Given the description of an element on the screen output the (x, y) to click on. 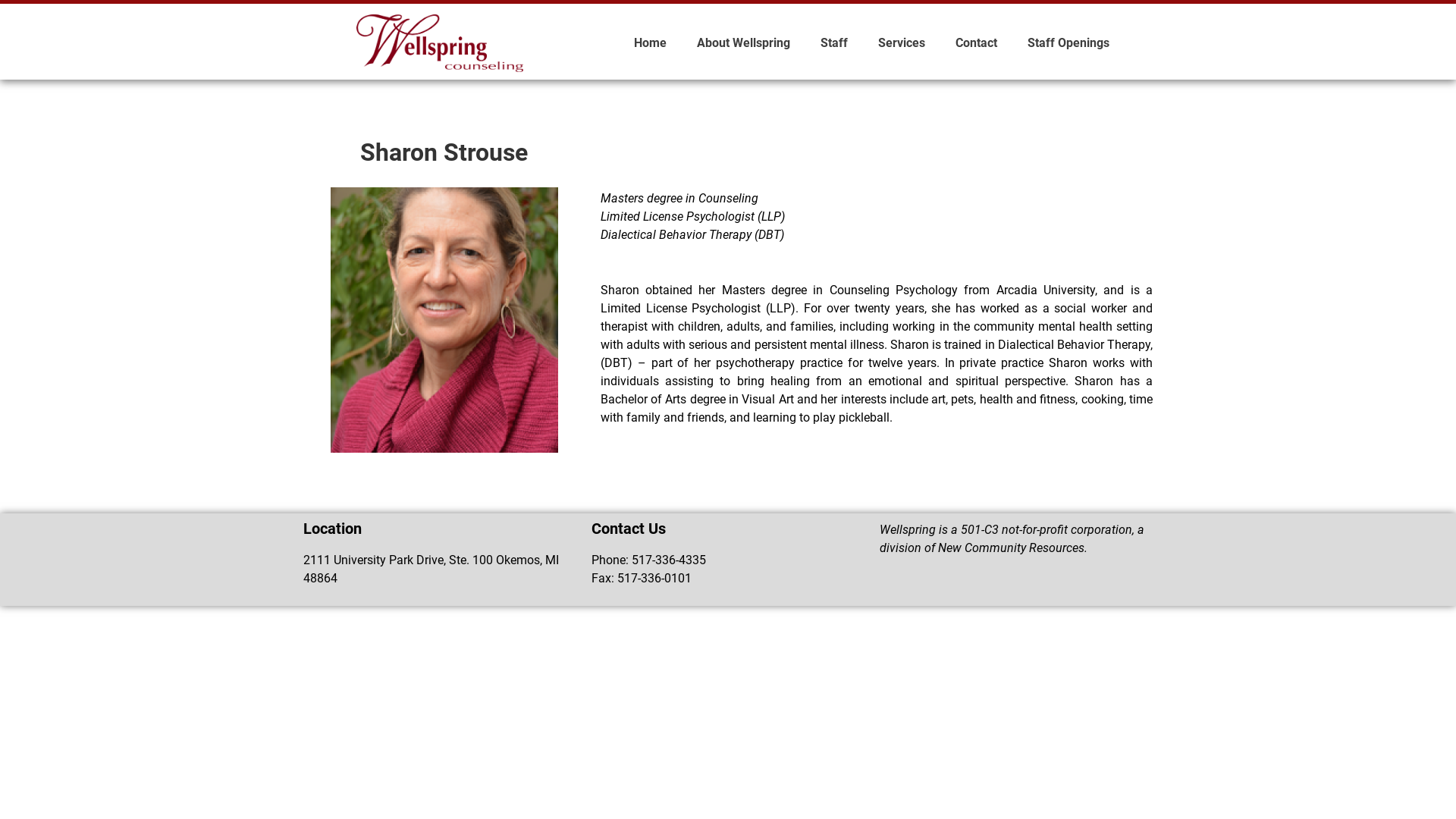
Contact Element type: text (976, 42)
Sharon Strouse Element type: hover (444, 319)
Staff Element type: text (833, 42)
Staff Openings Element type: text (1068, 42)
Home Element type: text (649, 42)
Phone: 517-336-4335 Element type: text (727, 560)
Services Element type: text (901, 42)
About Wellspring Element type: text (743, 42)
